Given the description of an element on the screen output the (x, y) to click on. 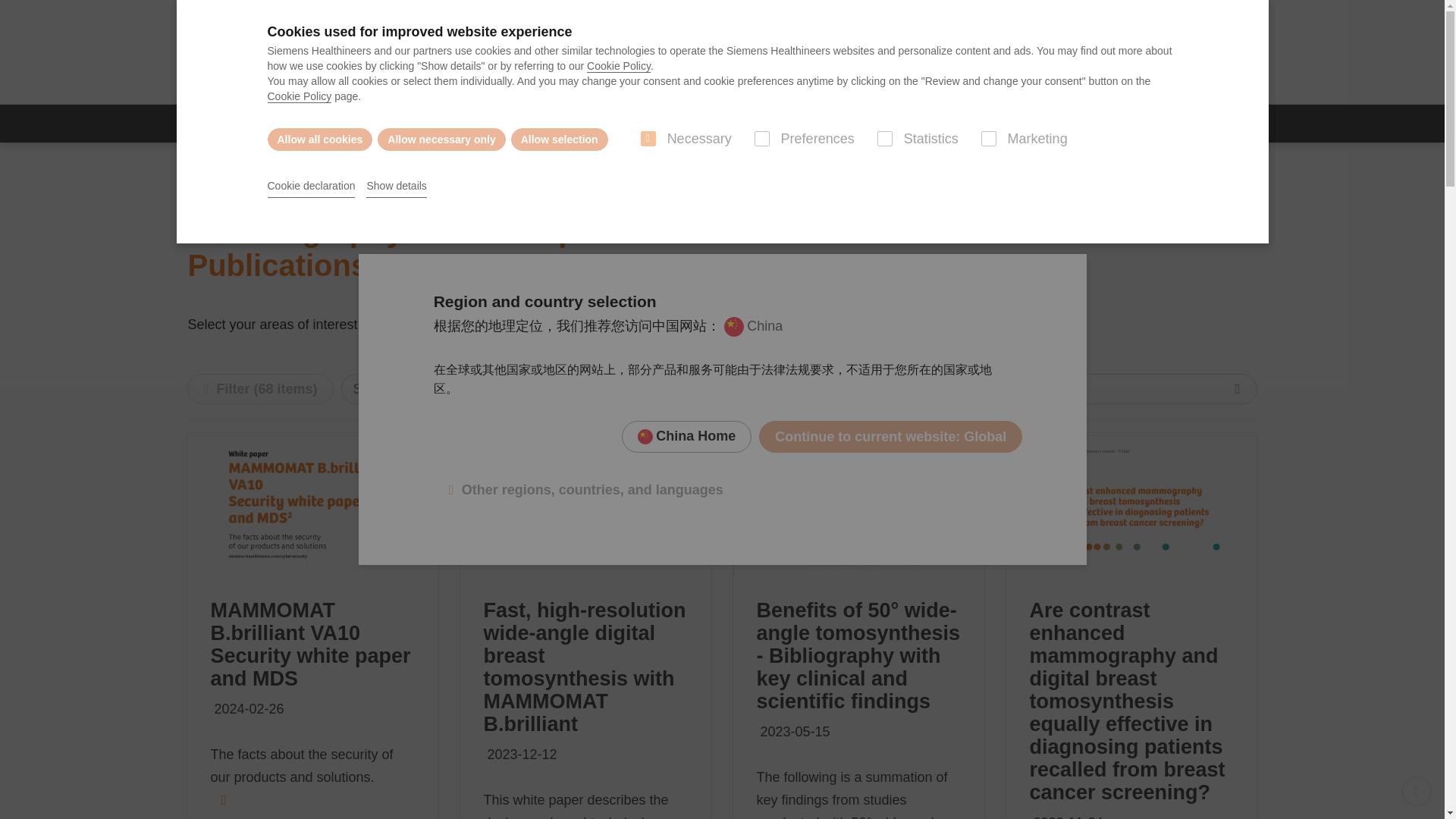
Allow selection (559, 138)
Cookie declaration (310, 186)
Cookie Policy (618, 65)
Allow all cookies (319, 138)
Cookie Policy (298, 96)
Allow necessary only (441, 138)
Show details (396, 186)
